Given the description of an element on the screen output the (x, y) to click on. 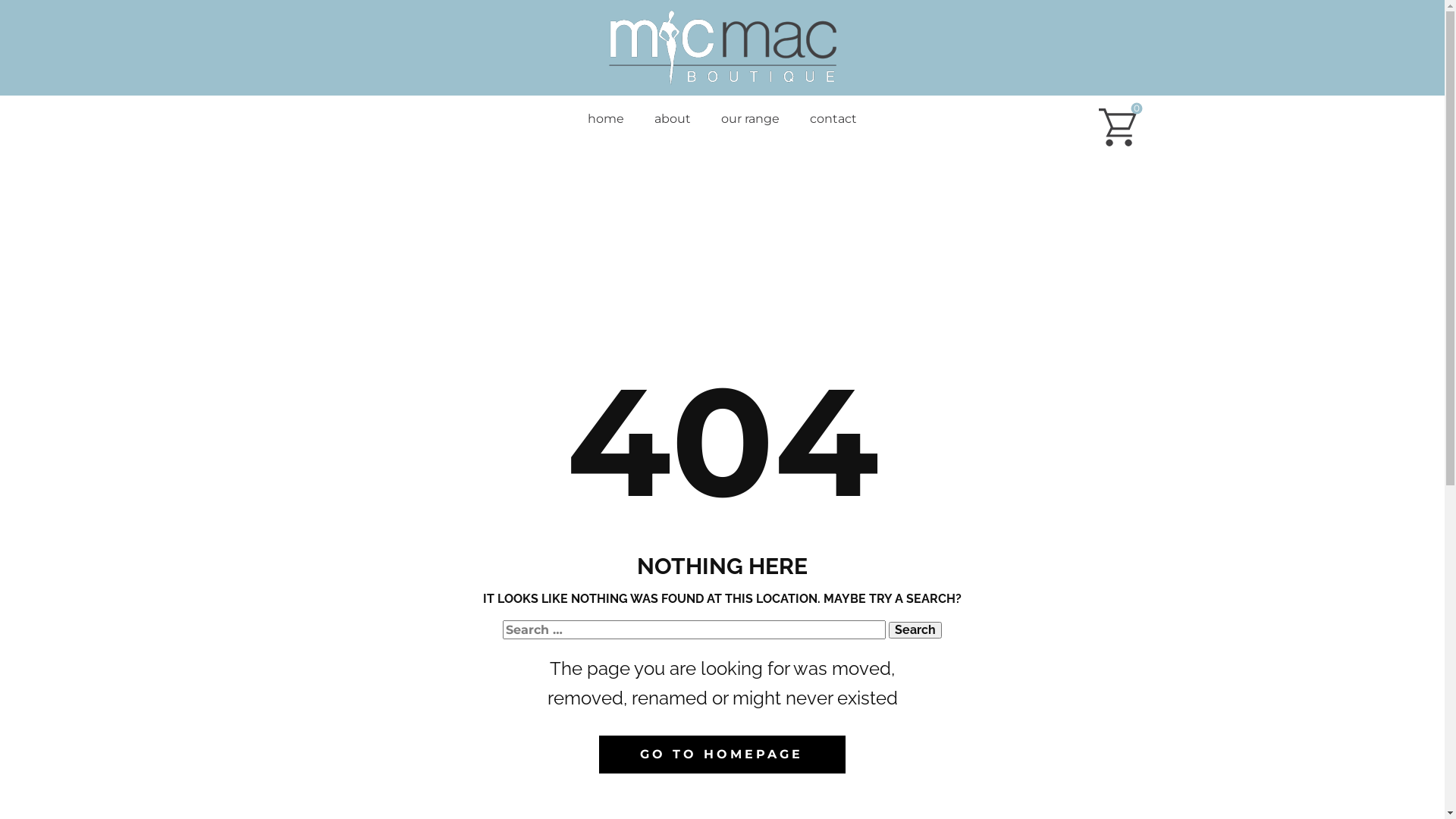
about Element type: text (672, 118)
contact Element type: text (833, 118)
GO TO HOMEPAGE Element type: text (722, 754)
home Element type: text (605, 118)
Search Element type: text (914, 629)
0 Element type: text (1116, 127)
our range Element type: text (750, 118)
